Given the description of an element on the screen output the (x, y) to click on. 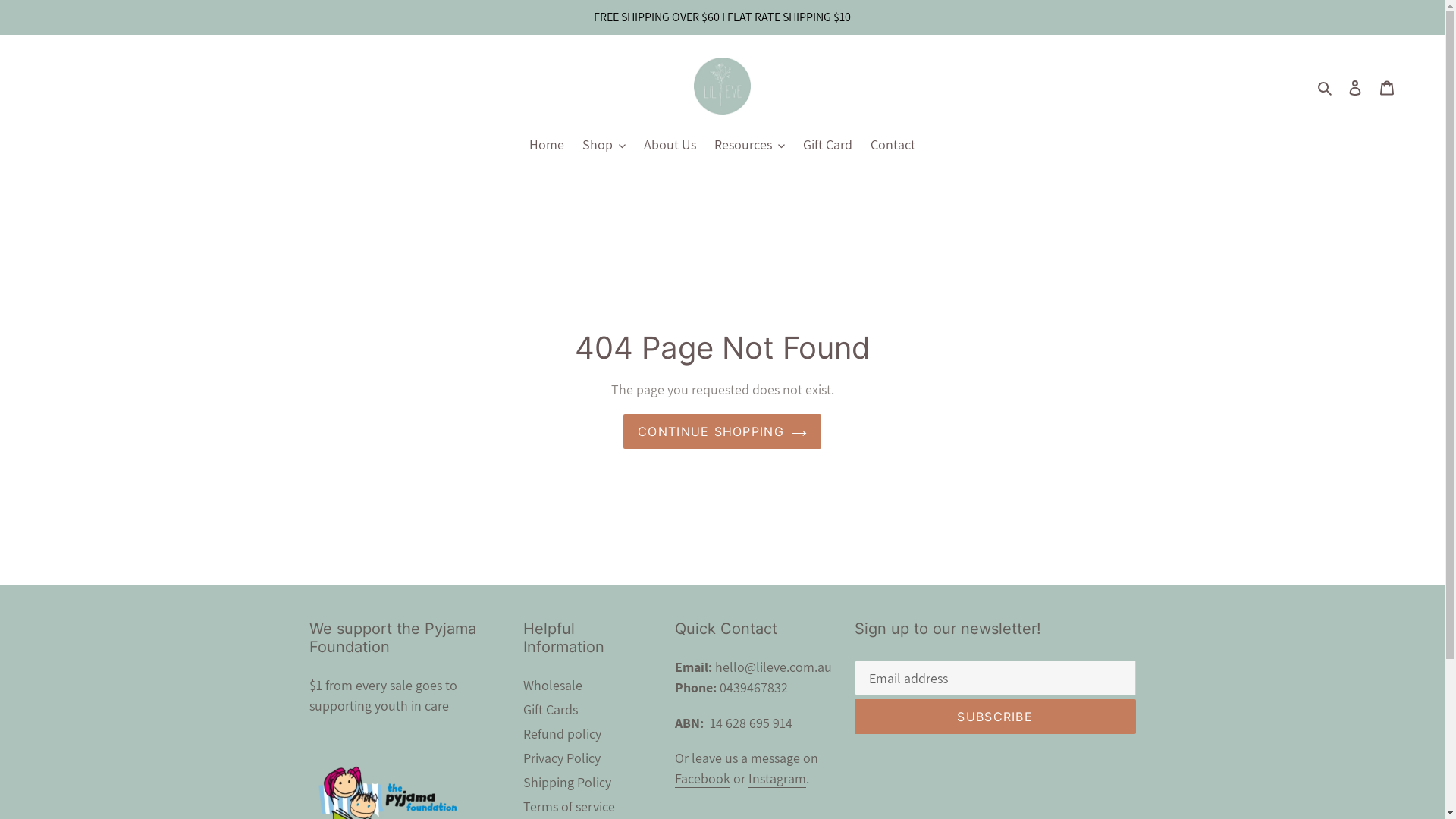
Wholesale Element type: text (552, 684)
Resources Element type: text (749, 144)
Facebook Element type: text (702, 778)
Contact Element type: text (892, 144)
Shipping Policy Element type: text (567, 781)
About Us Element type: text (669, 144)
Cart Element type: text (1386, 85)
Shop Element type: text (603, 144)
Home Element type: text (546, 144)
Refund policy Element type: text (562, 733)
Search Element type: text (1325, 86)
Gift Card Element type: text (827, 144)
Terms of service Element type: text (569, 806)
Privacy Policy Element type: text (561, 757)
CONTINUE SHOPPING Element type: text (722, 431)
Instagram Element type: text (777, 778)
Log in Element type: text (1355, 85)
SUBSCRIBE Element type: text (994, 716)
Gift Cards Element type: text (550, 709)
